Given the description of an element on the screen output the (x, y) to click on. 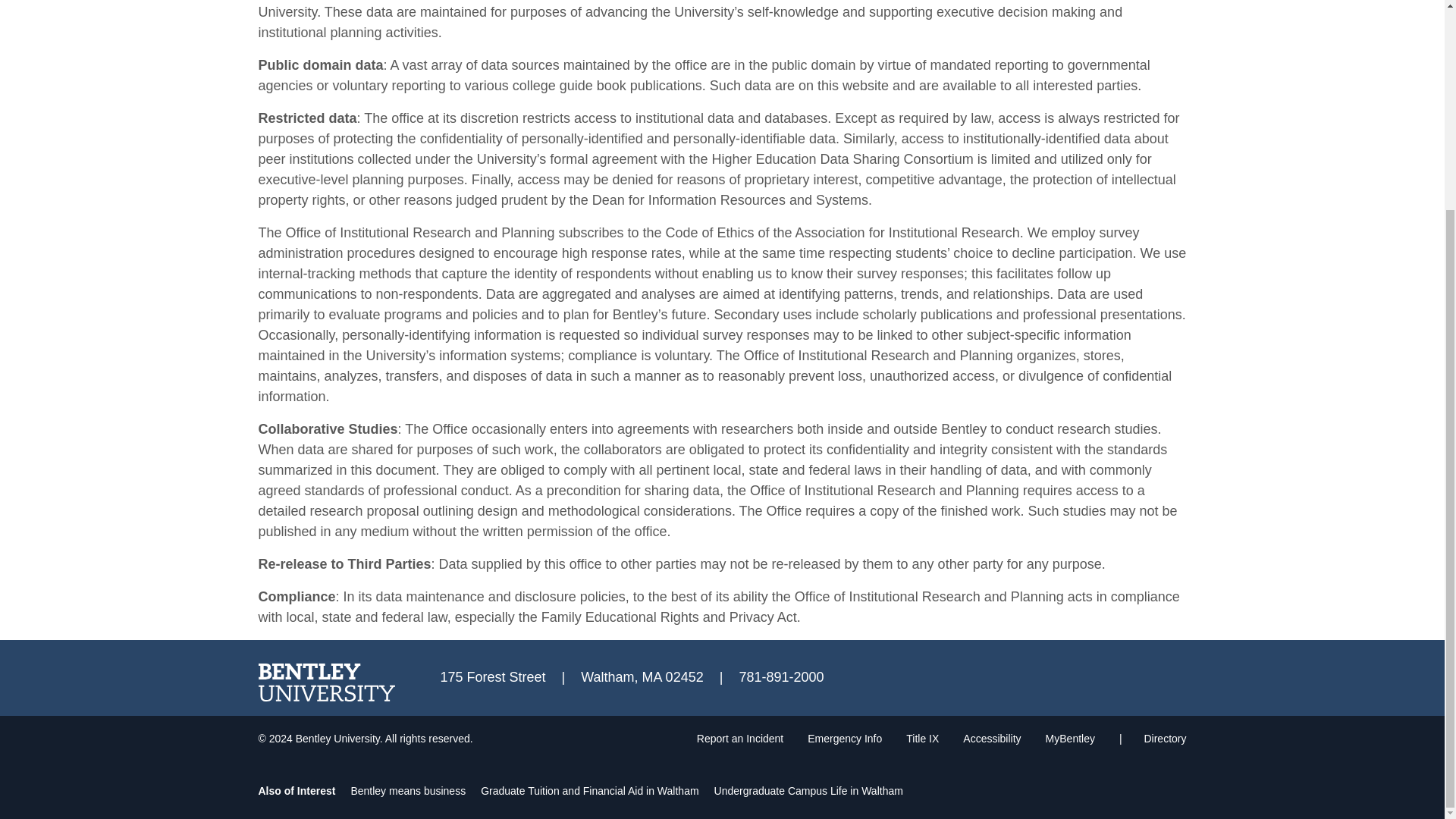
Accessibility (991, 738)
Twitter (1095, 675)
781-891-2000 (781, 676)
Instagram (1131, 675)
Bentley means business (407, 790)
Facebook (1059, 675)
LinkedIn (1168, 675)
MyBentley (1069, 738)
Undergraduate Campus Life in Waltham (808, 790)
Emergency Info (845, 738)
